Given the description of an element on the screen output the (x, y) to click on. 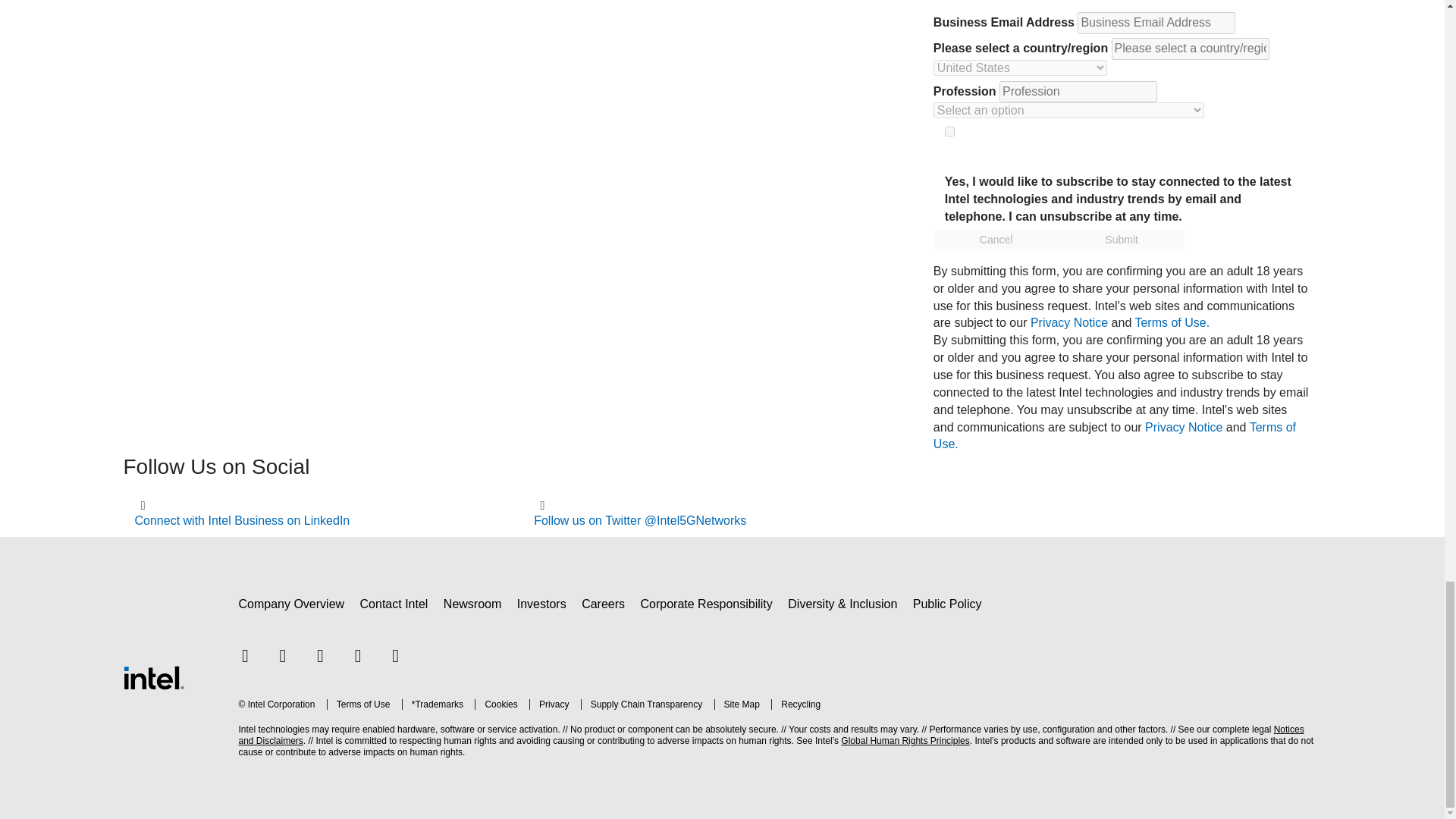
Intel Footer Logo (152, 676)
Connect with Intel Business on LinkedIn (242, 520)
Intel Footer Logo (152, 677)
on (949, 131)
